Given the description of an element on the screen output the (x, y) to click on. 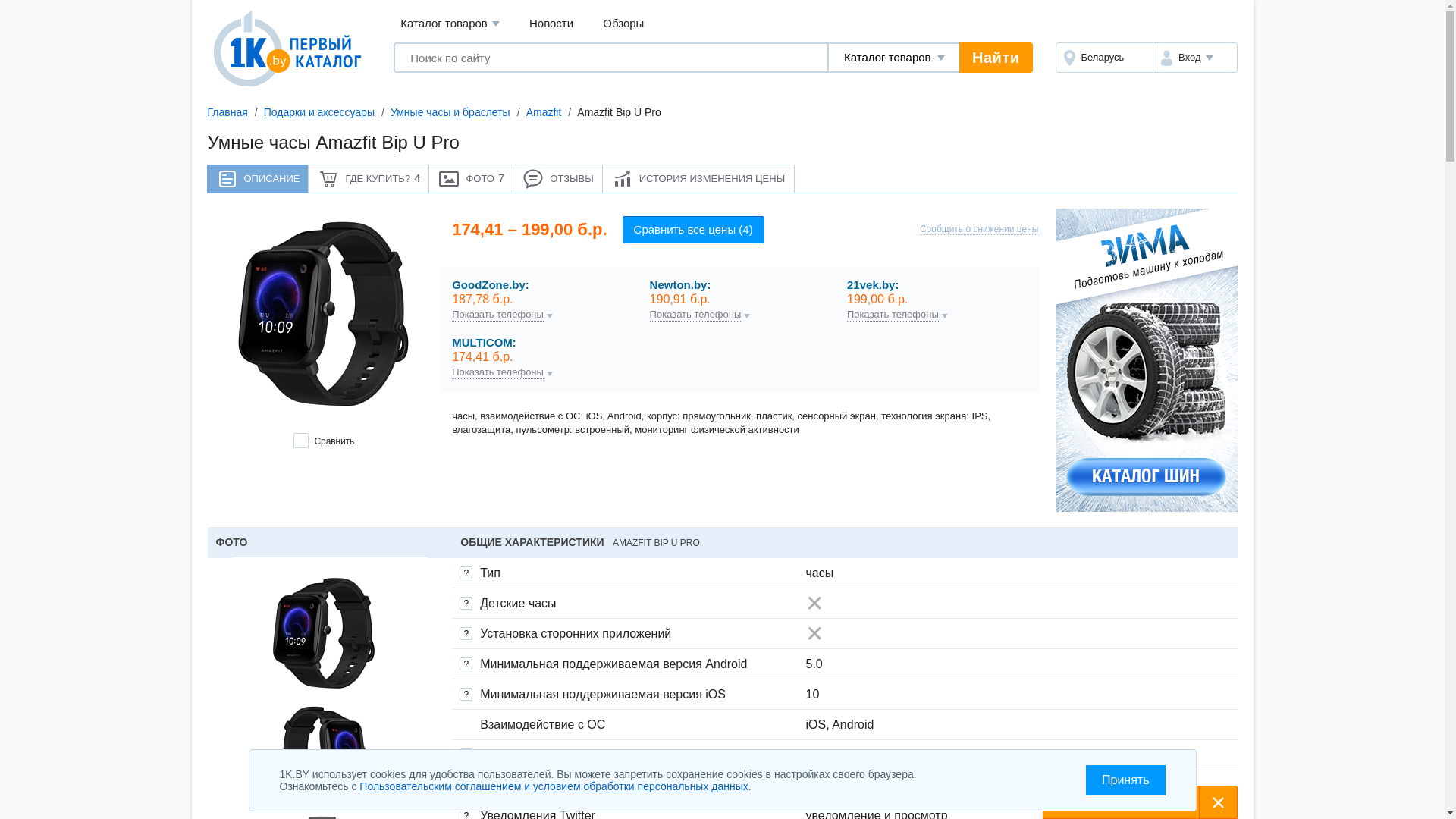
Amazfit Bip U Pro Element type: hover (323, 316)
? Element type: text (465, 784)
? Element type: text (465, 754)
? Element type: text (465, 602)
Amazfit Element type: text (543, 112)
? Element type: text (465, 663)
Amazfit Bip U Pro Element type: hover (323, 752)
? Element type: text (465, 572)
? Element type: text (465, 693)
Amazfit Bip U Pro Element type: hover (323, 633)
? Element type: text (465, 633)
